Given the description of an element on the screen output the (x, y) to click on. 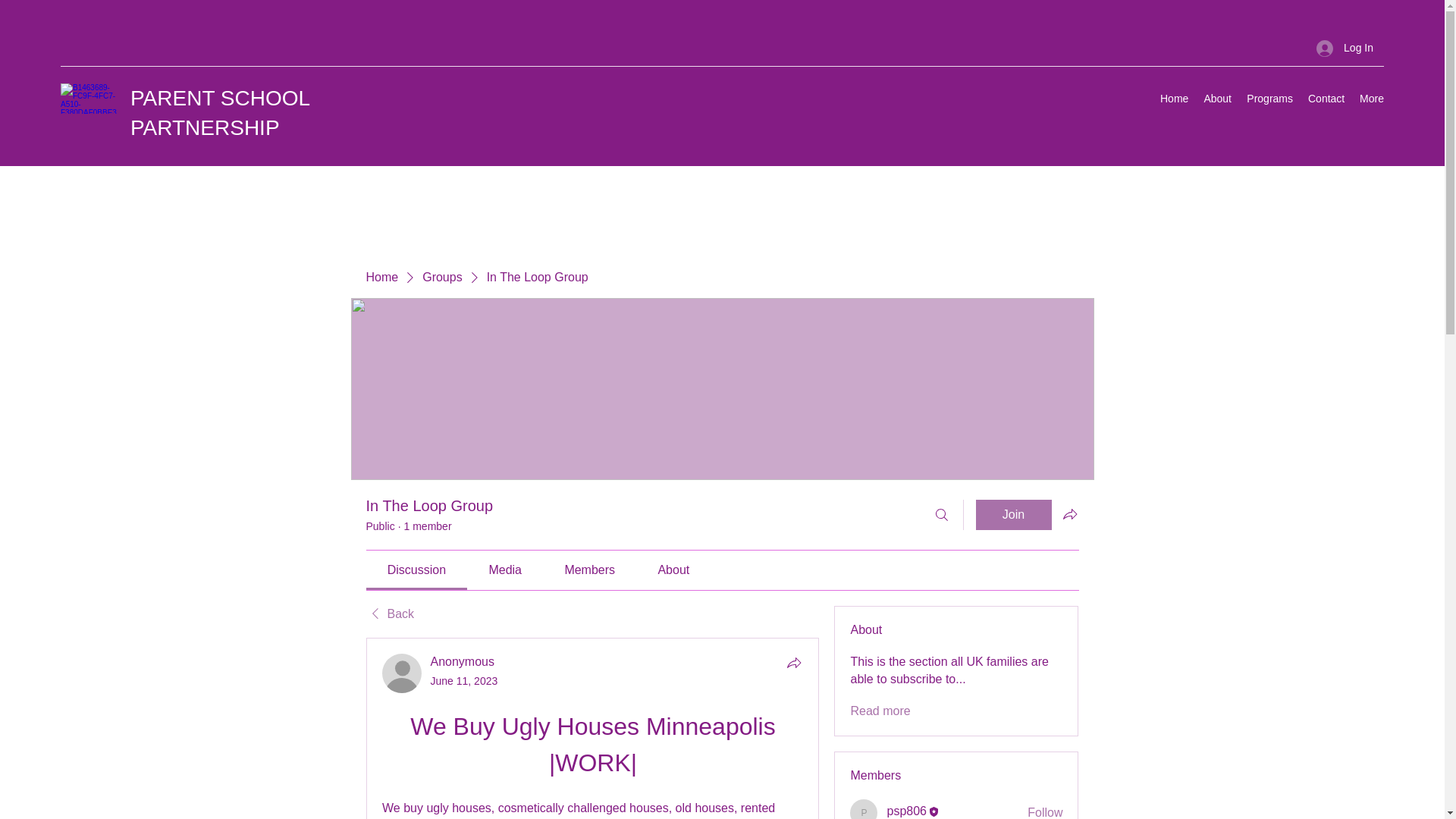
Home (1174, 97)
Read more (880, 710)
June 11, 2023 (463, 680)
Log In (1345, 48)
Follow (1044, 811)
psp806 (863, 809)
PARENT SCHOOL PARTNERSHIP (219, 112)
Programs (1269, 97)
Anonymous (462, 661)
Groups (441, 277)
Home (381, 277)
Back (389, 614)
Contact (1326, 97)
Join (1013, 514)
About (1217, 97)
